Given the description of an element on the screen output the (x, y) to click on. 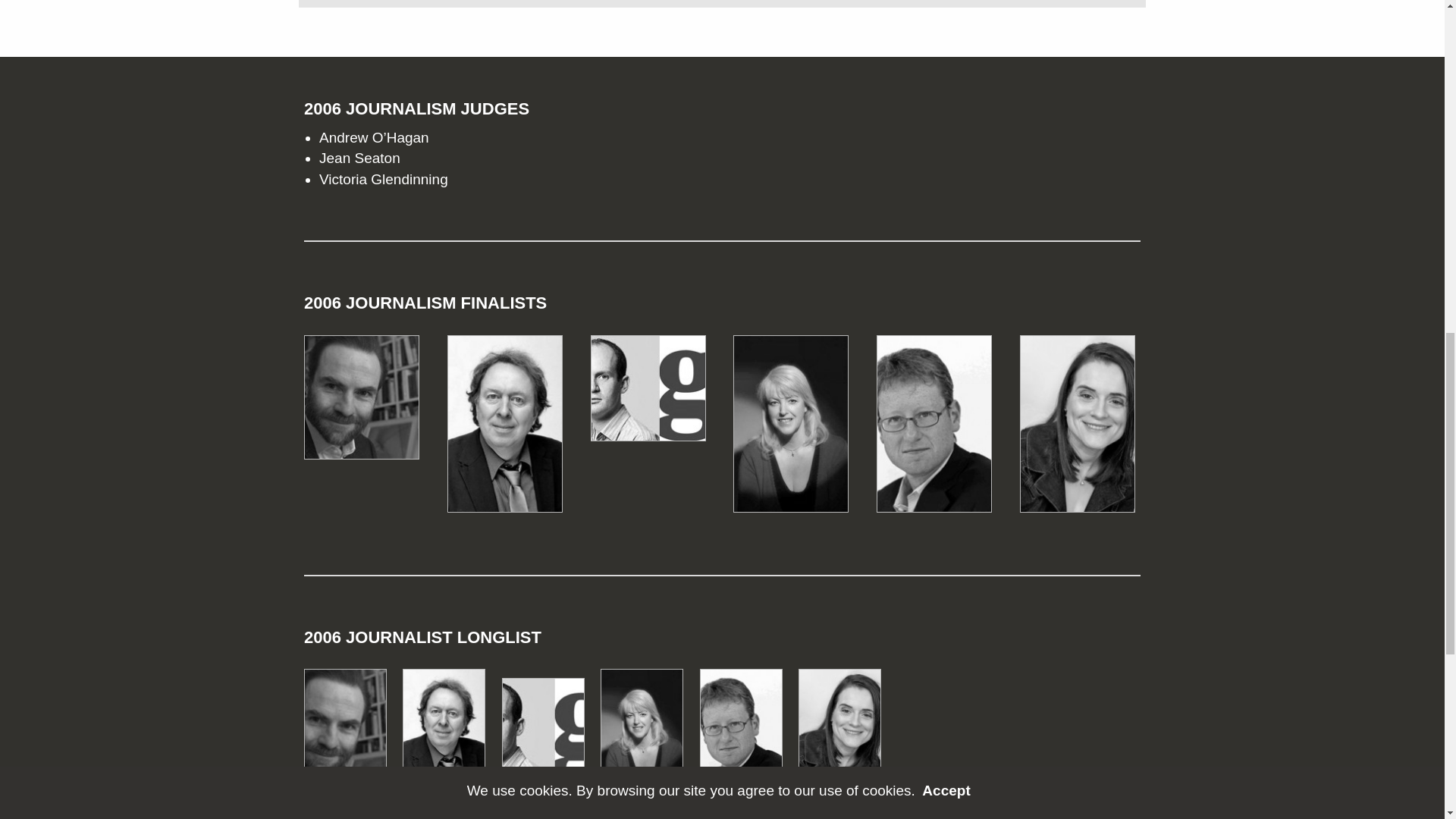
Oliver Burkeman (648, 392)
Timothy Garton Ash (361, 401)
Bronwen Maddox (1077, 428)
Bronwen Maddox (845, 735)
Jonathan Freedland (747, 735)
Steve Richards (504, 428)
Oliver Burkeman (549, 735)
Steve Richards (450, 735)
Timothy Garton Ash (351, 735)
Lesley Riddoch (647, 735)
Lesley Riddoch (790, 428)
Jonathan Freedland (933, 428)
